Given the description of an element on the screen output the (x, y) to click on. 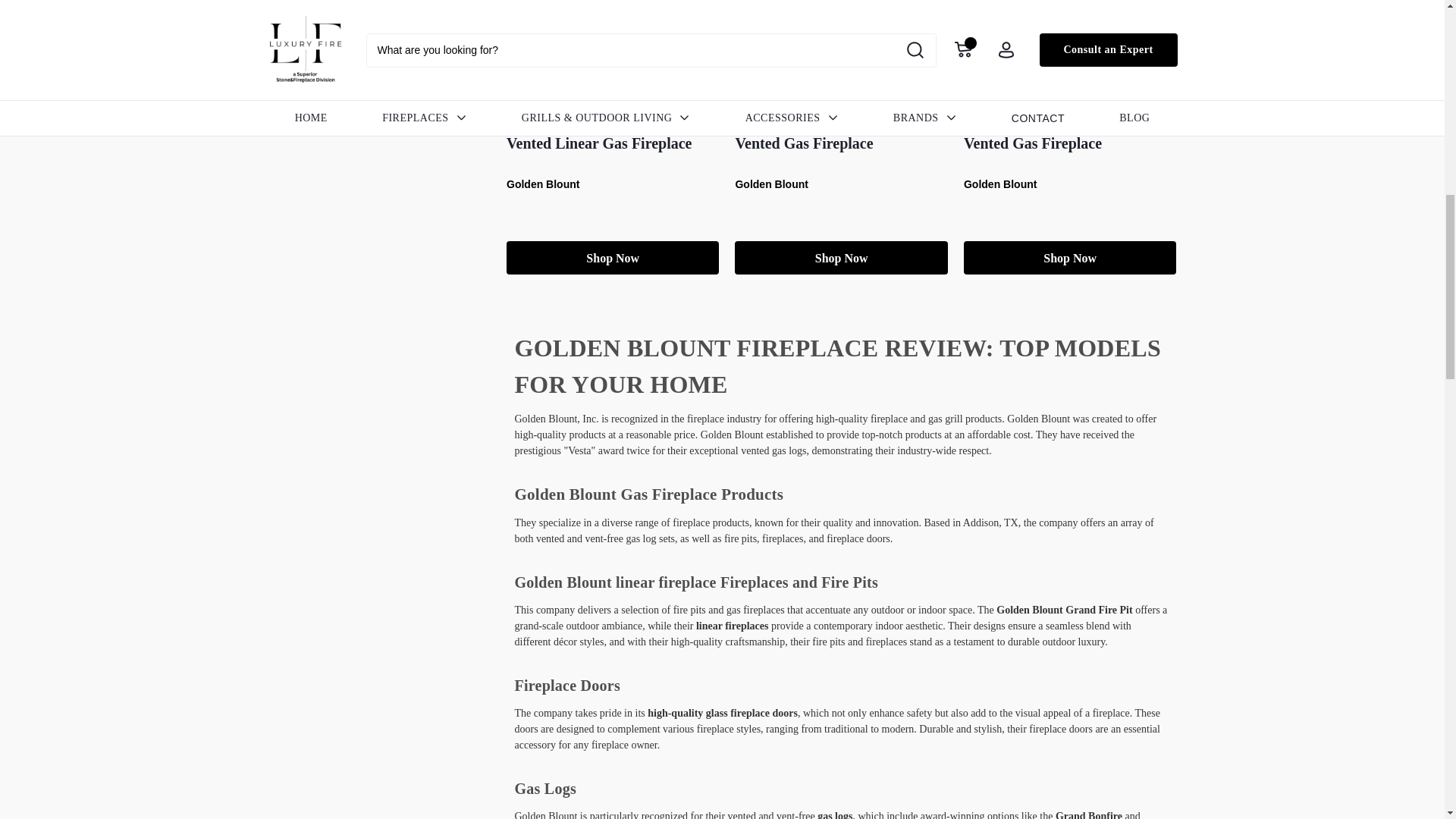
Golden Blount Open Fire 42" Vented Gas Fireplace (1069, 50)
Golden Blount Open Fire 50" Vented Gas Fireplace (840, 50)
Golden Blount Open Fire 42" Vented Linear Gas Fireplace (612, 50)
